Given the description of an element on the screen output the (x, y) to click on. 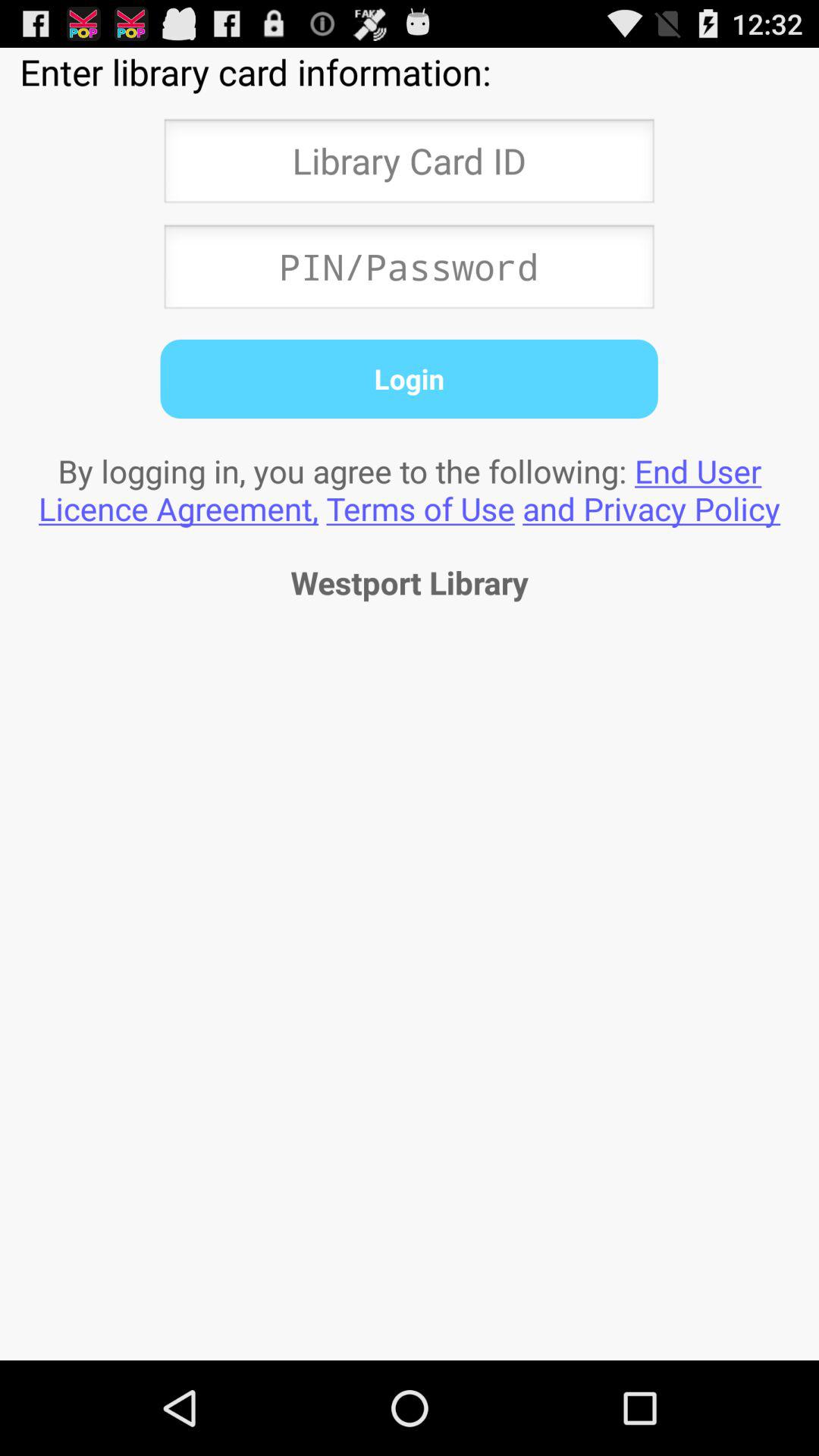
enter pin or password (409, 271)
